Given the description of an element on the screen output the (x, y) to click on. 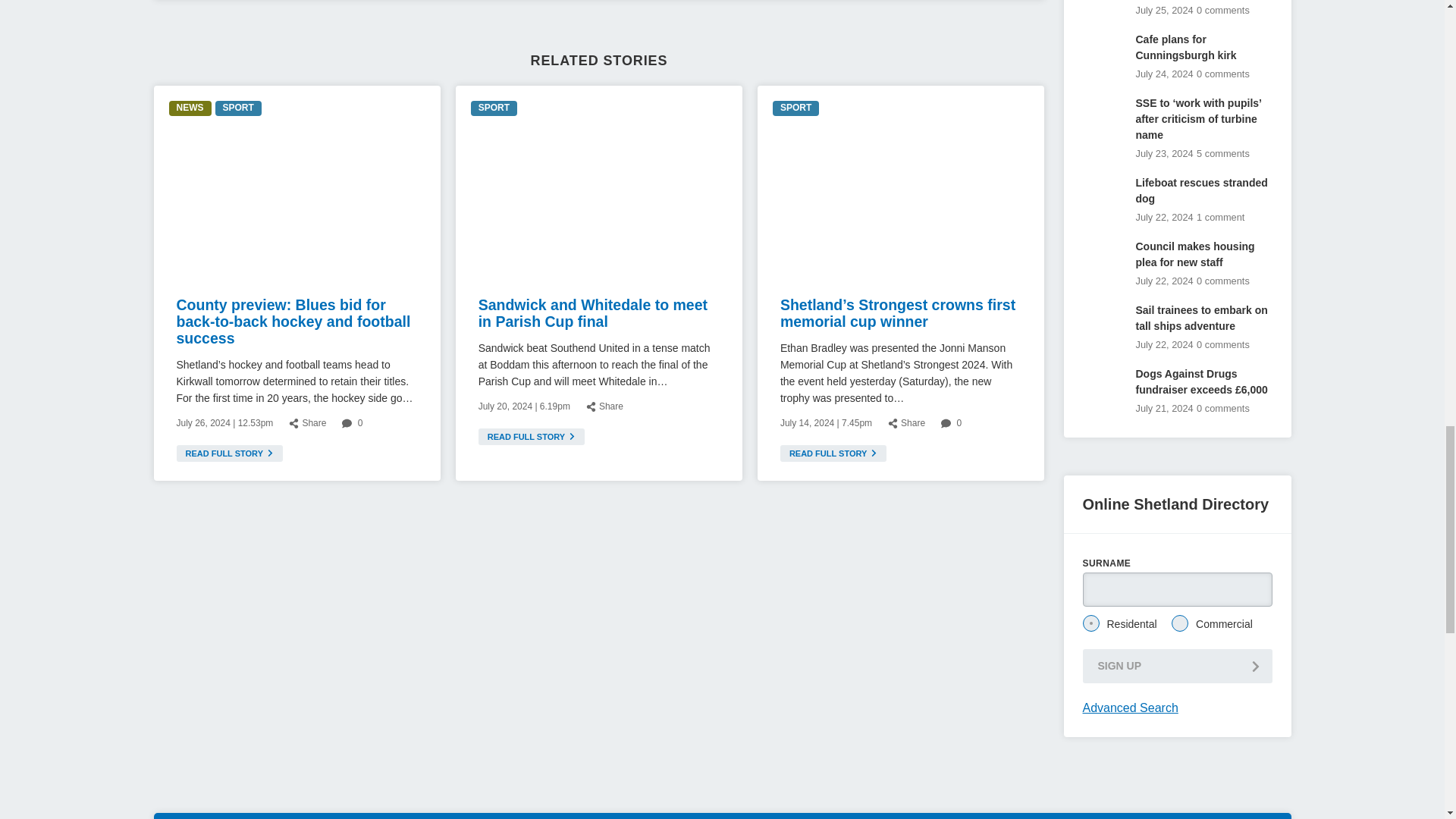
residential (1091, 623)
READ FULL STORY (229, 453)
SPORT (238, 107)
0 (352, 422)
0 (950, 422)
commercial (1180, 623)
SPORT (493, 107)
READ FULL STORY (532, 436)
NEWS (189, 107)
Sandwick and Whitedale to meet in Parish Cup final (593, 313)
SPORT (795, 107)
READ FULL STORY (833, 453)
